Given the description of an element on the screen output the (x, y) to click on. 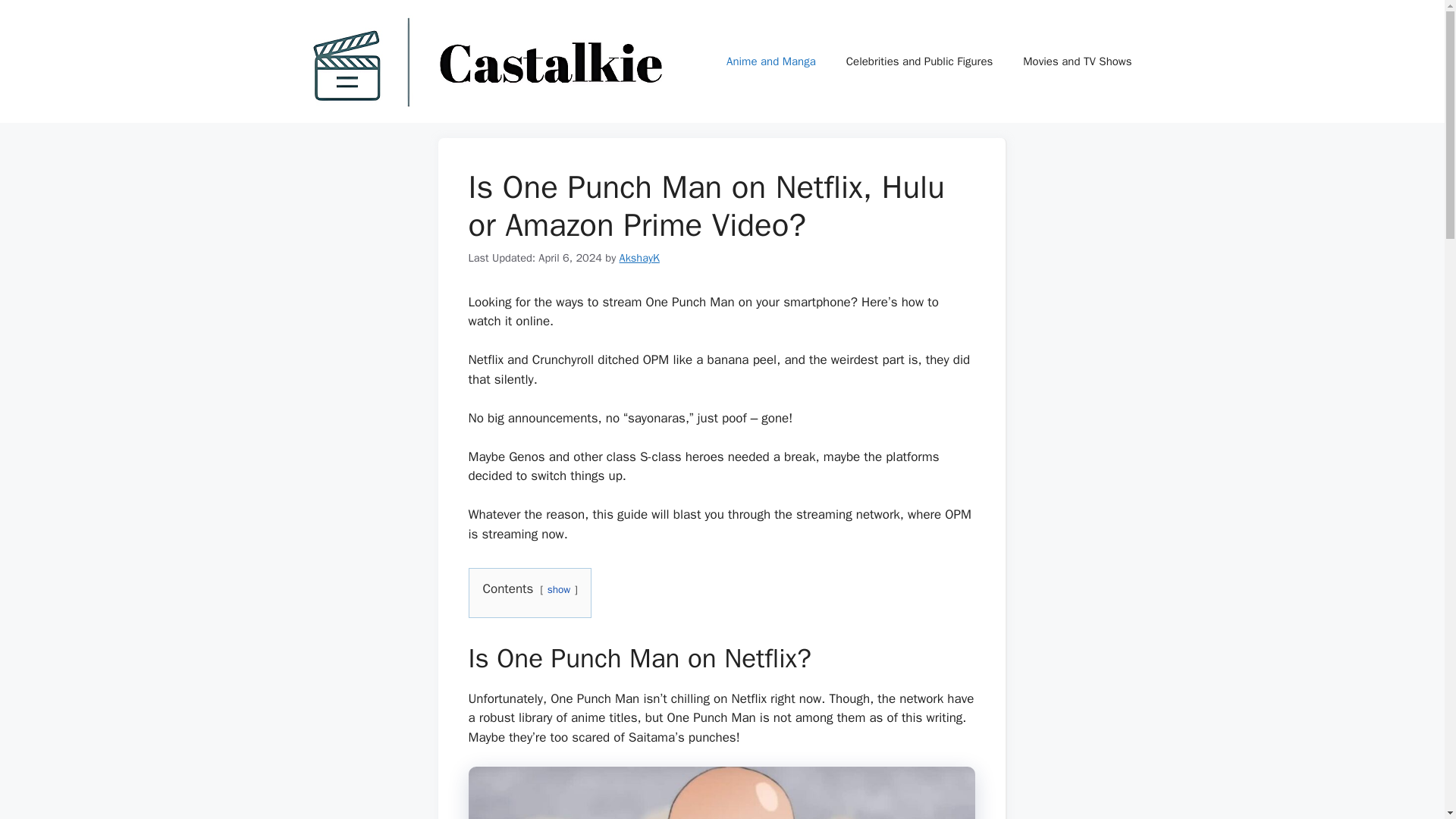
AkshayK (639, 257)
View all posts by AkshayK (639, 257)
Is One Punch Man on Netflix, Hulu or Amazon Prime Video? (721, 792)
Celebrities and Public Figures (920, 61)
show (558, 589)
Movies and TV Shows (1077, 61)
Anime and Manga (771, 61)
